Given the description of an element on the screen output the (x, y) to click on. 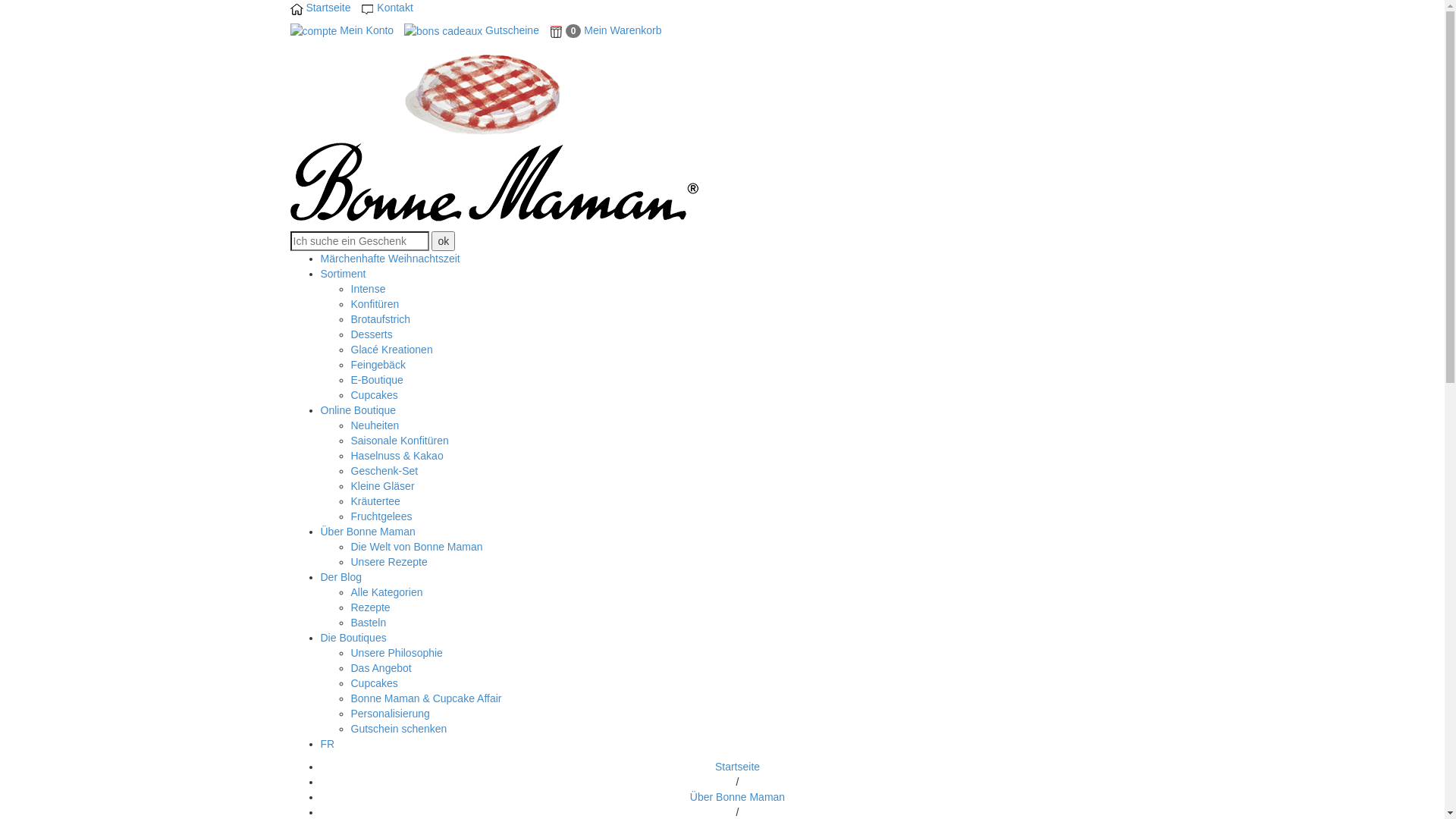
Startseite Element type: text (737, 766)
Das Angebot Element type: text (380, 668)
Bonne Maman & Cupcake Affair Element type: text (425, 698)
Cupcakes Element type: text (373, 683)
Geschenk-Set Element type: text (383, 470)
Die Boutiques Element type: text (352, 637)
Intense Element type: text (367, 288)
Rezepte Element type: text (369, 607)
Gutschein schenken Element type: text (398, 728)
Fruchtgelees Element type: text (380, 516)
Unsere Philosophie Element type: text (396, 652)
Startseite Element type: text (319, 7)
ok Element type: text (443, 241)
Desserts Element type: text (371, 334)
Haselnuss & Kakao Element type: text (396, 455)
0 Mein Warenkorb Element type: text (605, 30)
Online Boutique Element type: text (357, 410)
FR Element type: text (327, 743)
Mein Konto Element type: text (341, 30)
Brotaufstrich Element type: text (380, 319)
Cupcakes Element type: text (373, 395)
Unsere Rezepte Element type: text (388, 561)
Kontakt Element type: text (386, 7)
E-Boutique Element type: text (376, 379)
Sortiment Element type: text (342, 273)
Die Welt von Bonne Maman Element type: text (416, 546)
Alle Kategorien Element type: text (386, 592)
Der Blog Element type: text (340, 577)
Basteln Element type: text (367, 622)
Gutscheine Element type: text (471, 30)
Personalisierung Element type: text (389, 713)
Neuheiten Element type: text (374, 425)
